Given the description of an element on the screen output the (x, y) to click on. 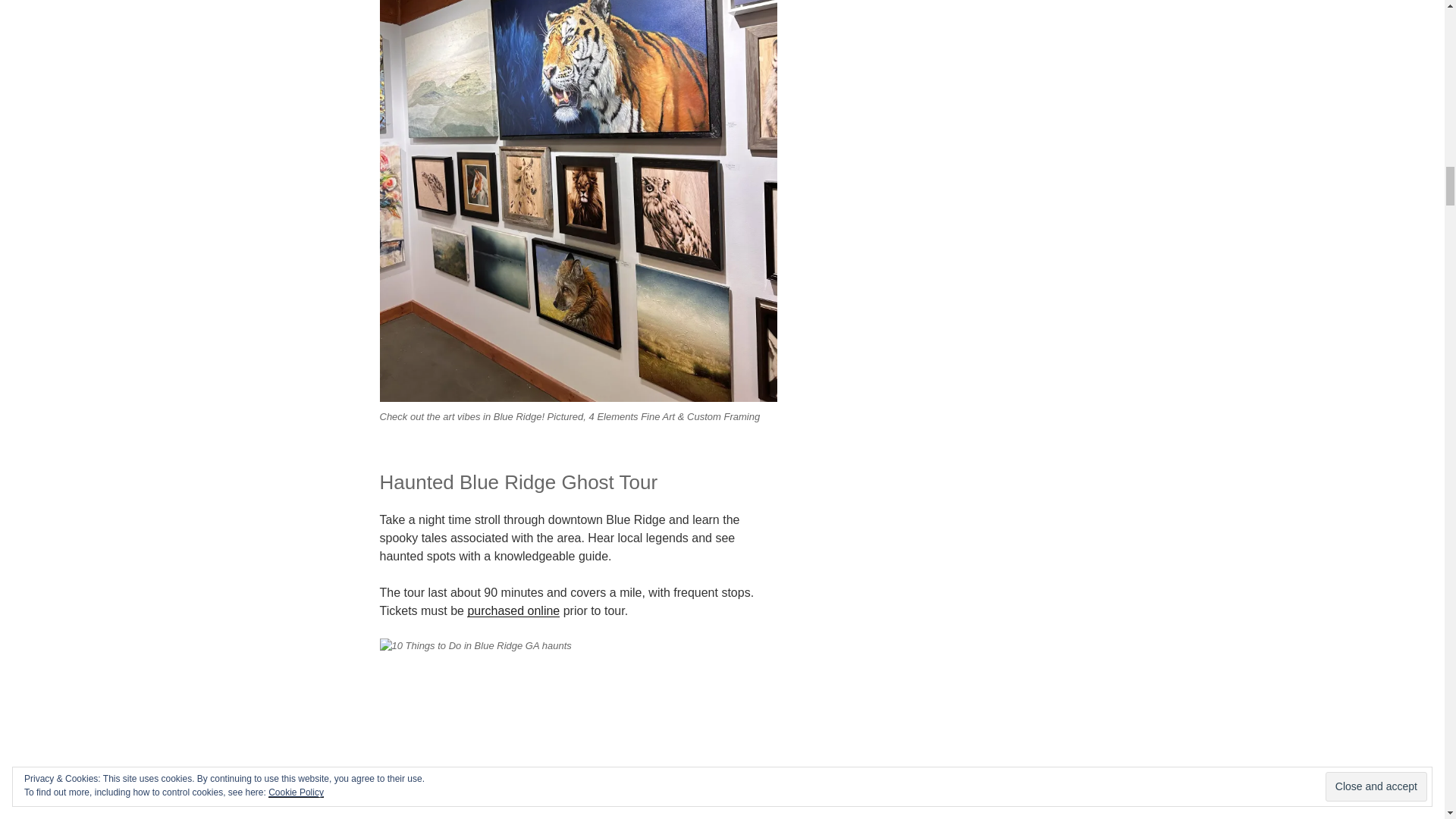
purchased online (513, 610)
